Given the description of an element on the screen output the (x, y) to click on. 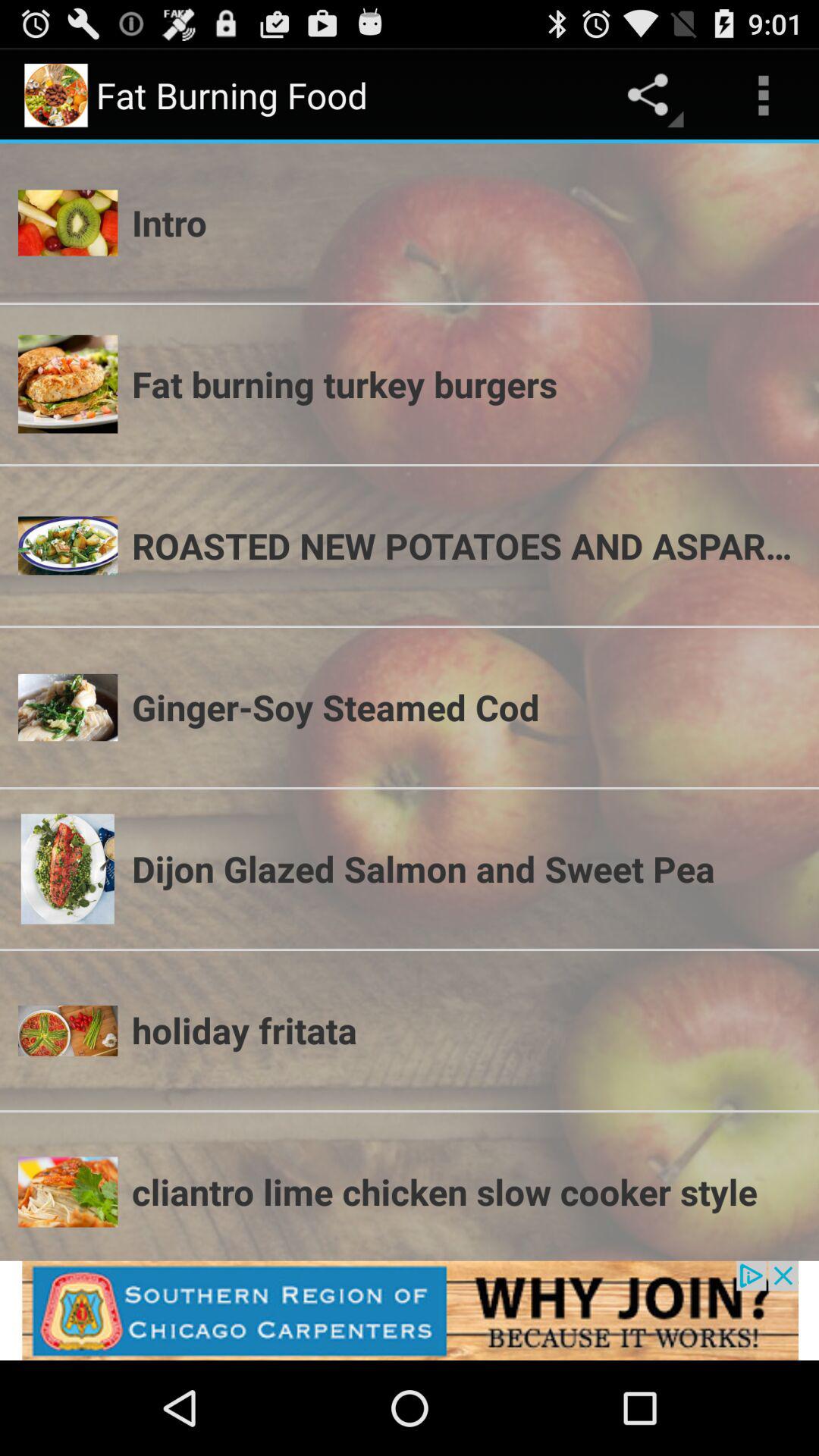
open advertisement (409, 1310)
